Given the description of an element on the screen output the (x, y) to click on. 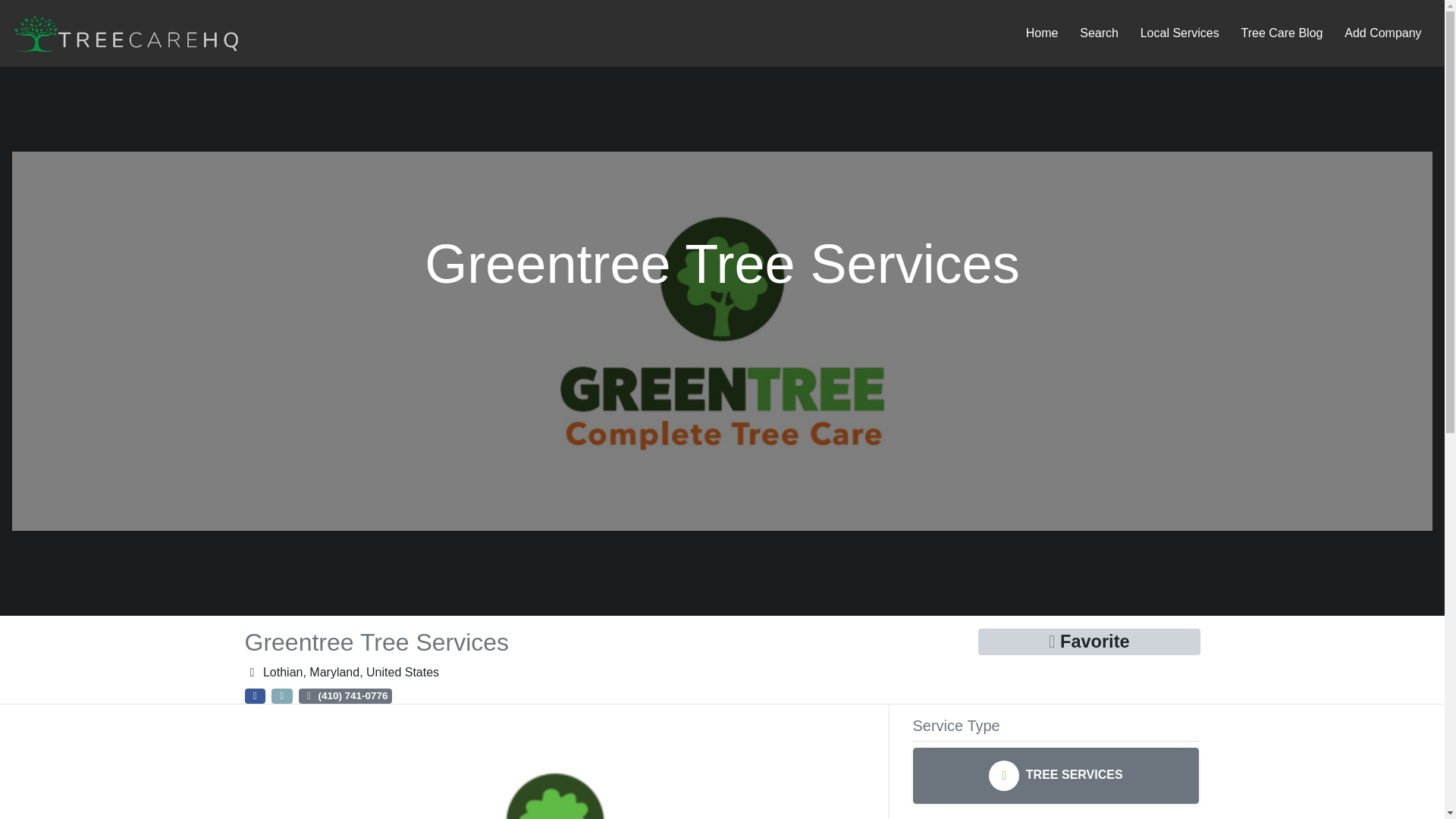
Previous (290, 767)
Home (1041, 32)
TREE SERVICES (1055, 774)
Add Company (1382, 32)
Tree Care Blog (1281, 32)
Next (819, 767)
Search (1098, 32)
Local Services (1179, 32)
TreeCareHQ (125, 31)
